Given the description of an element on the screen output the (x, y) to click on. 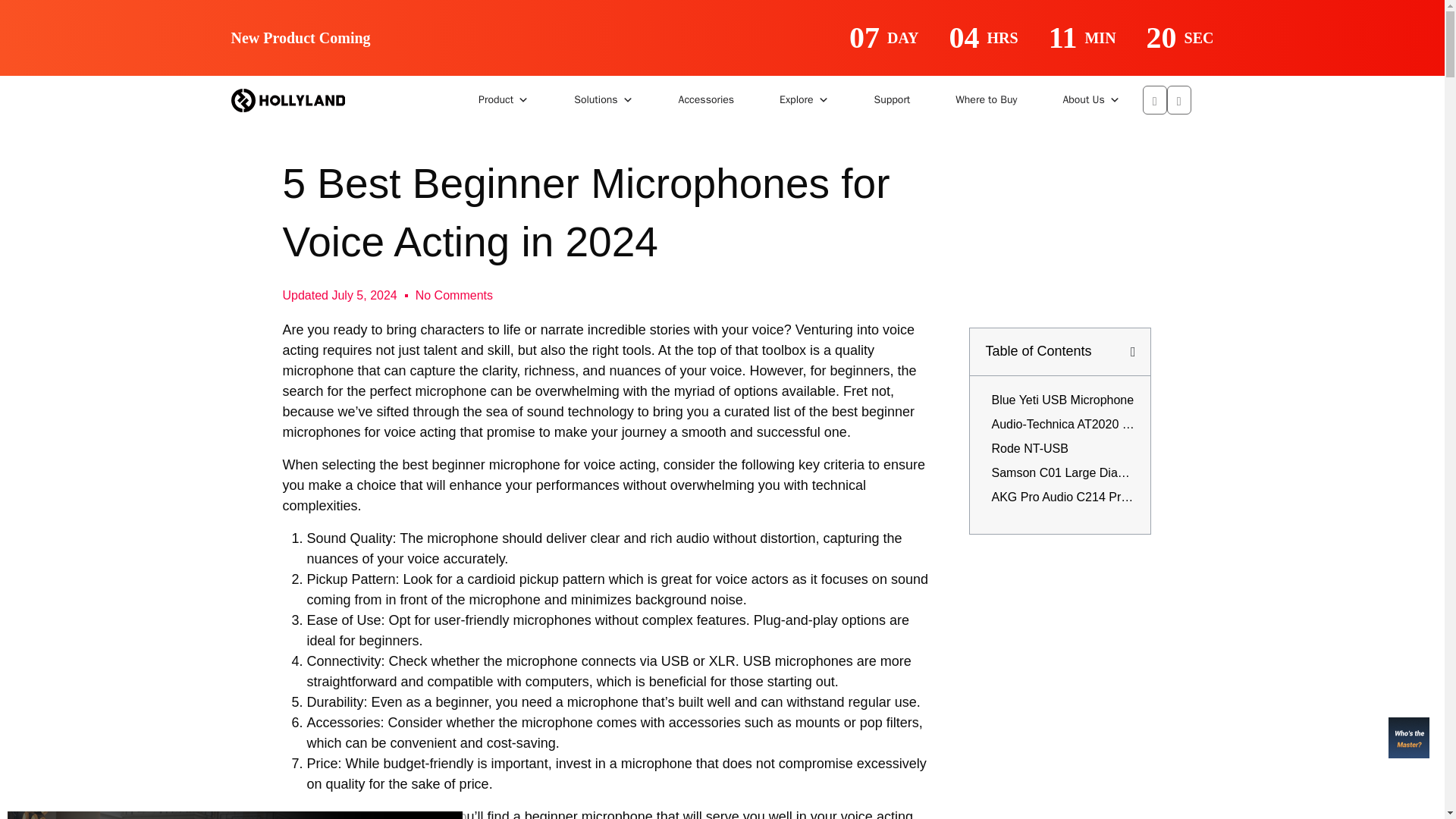
Accessories (706, 100)
Solutions (603, 100)
Explore (803, 100)
Product (503, 100)
